Given the description of an element on the screen output the (x, y) to click on. 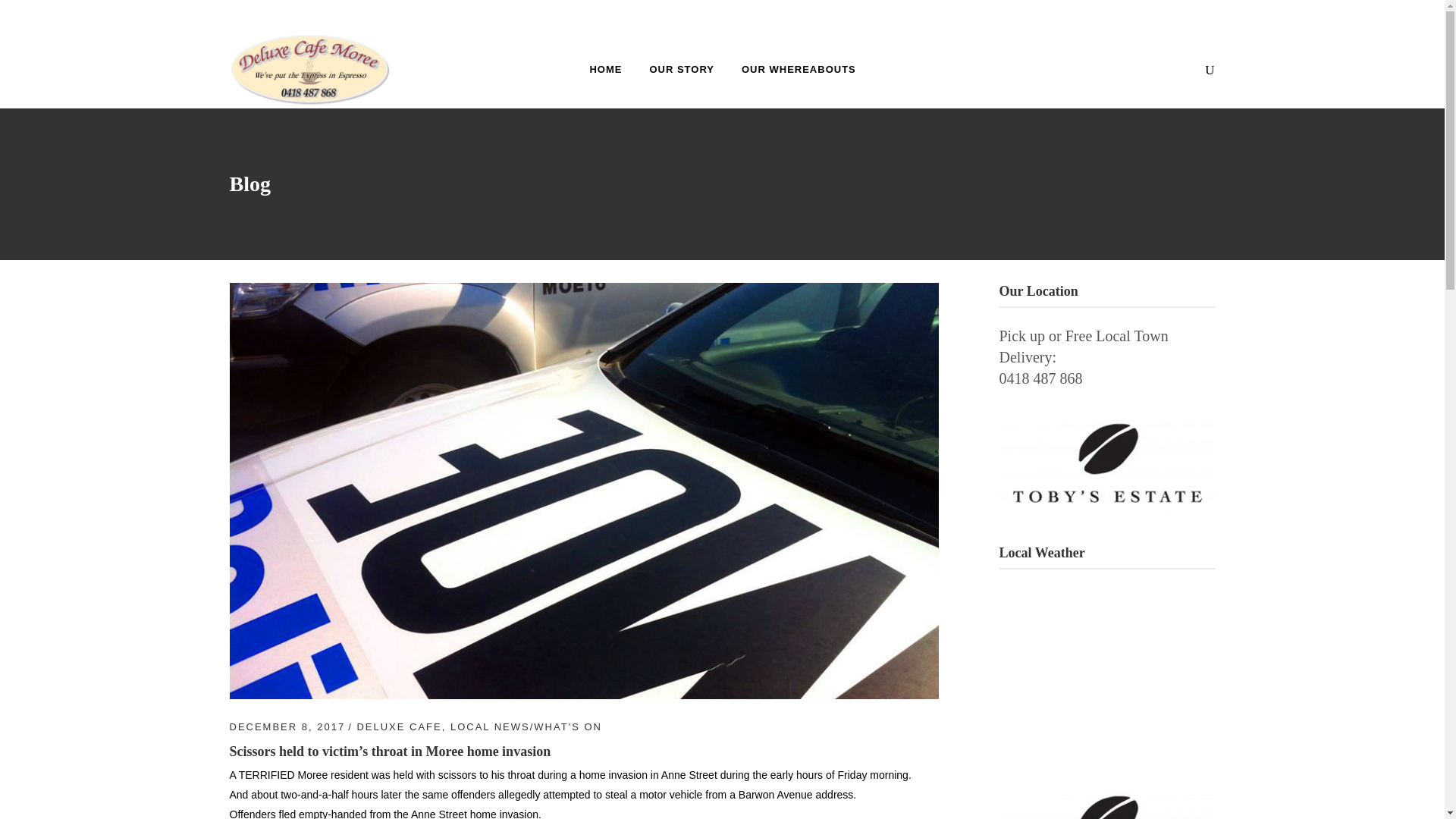
U (983, 413)
OUR STORY (681, 69)
DELUXE CAFE (398, 726)
OUR WHEREABOUTS (798, 69)
